Given the description of an element on the screen output the (x, y) to click on. 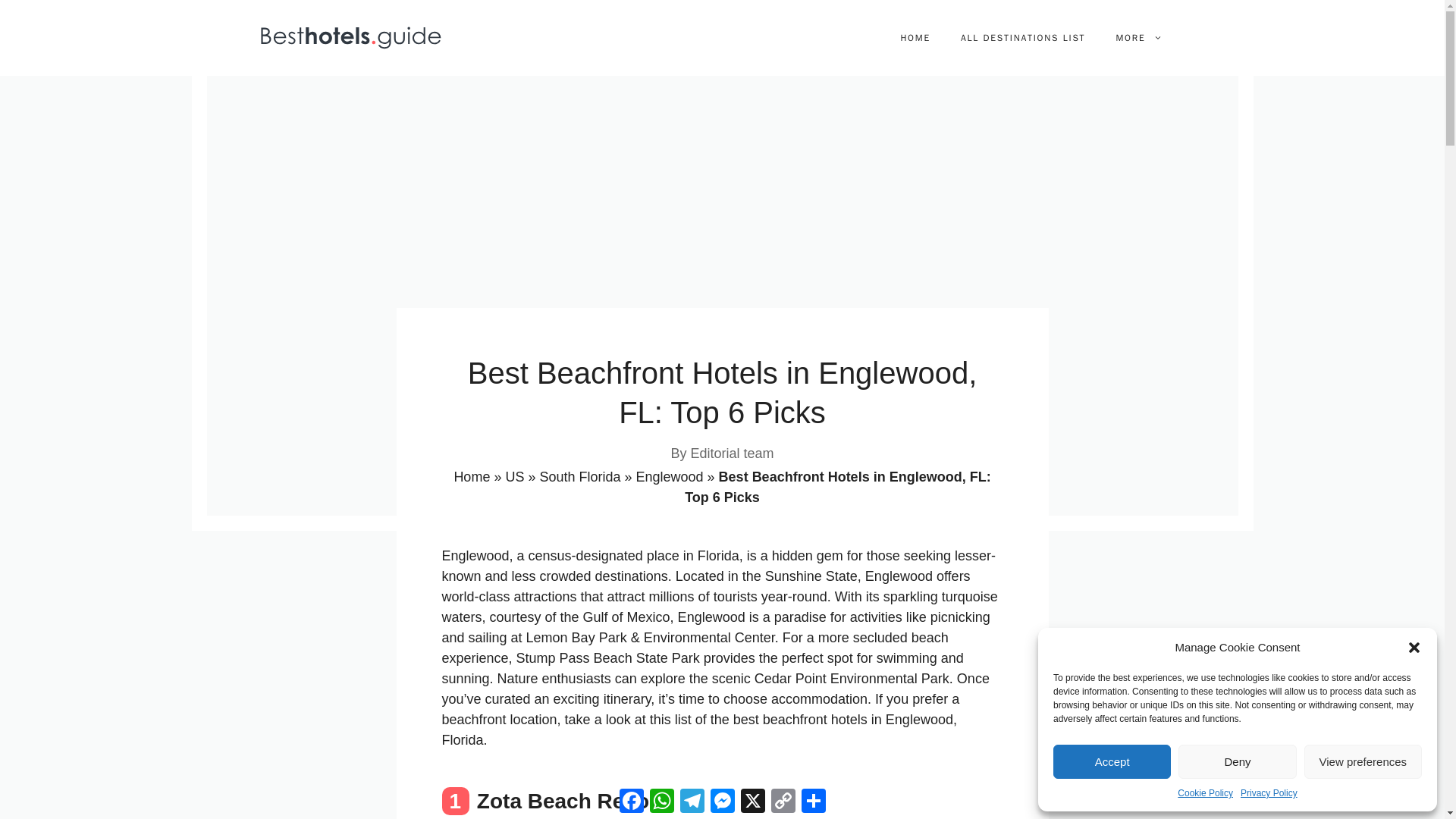
Facebook (630, 800)
ALL DESTINATIONS LIST (1022, 37)
HOME (914, 37)
Accept (1111, 761)
Privacy Policy (1268, 793)
MORE (1138, 37)
Cookie Policy (1205, 793)
View preferences (1363, 761)
Deny (1236, 761)
